Given the description of an element on the screen output the (x, y) to click on. 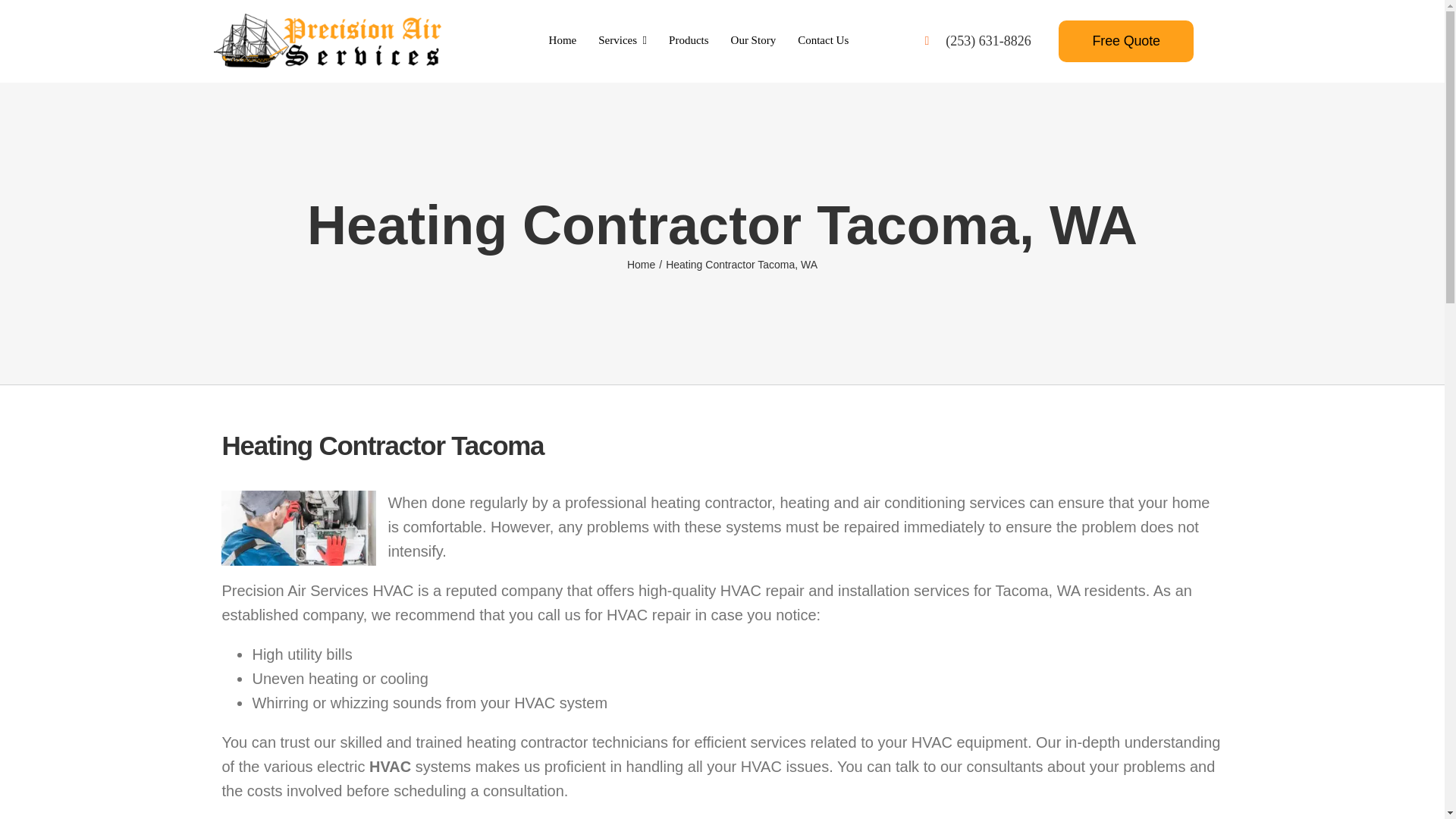
Products (688, 40)
Free Quote (1125, 41)
Our Story (753, 40)
Services (622, 40)
Contact Us (823, 40)
Home (641, 264)
Home (562, 40)
